Given the description of an element on the screen output the (x, y) to click on. 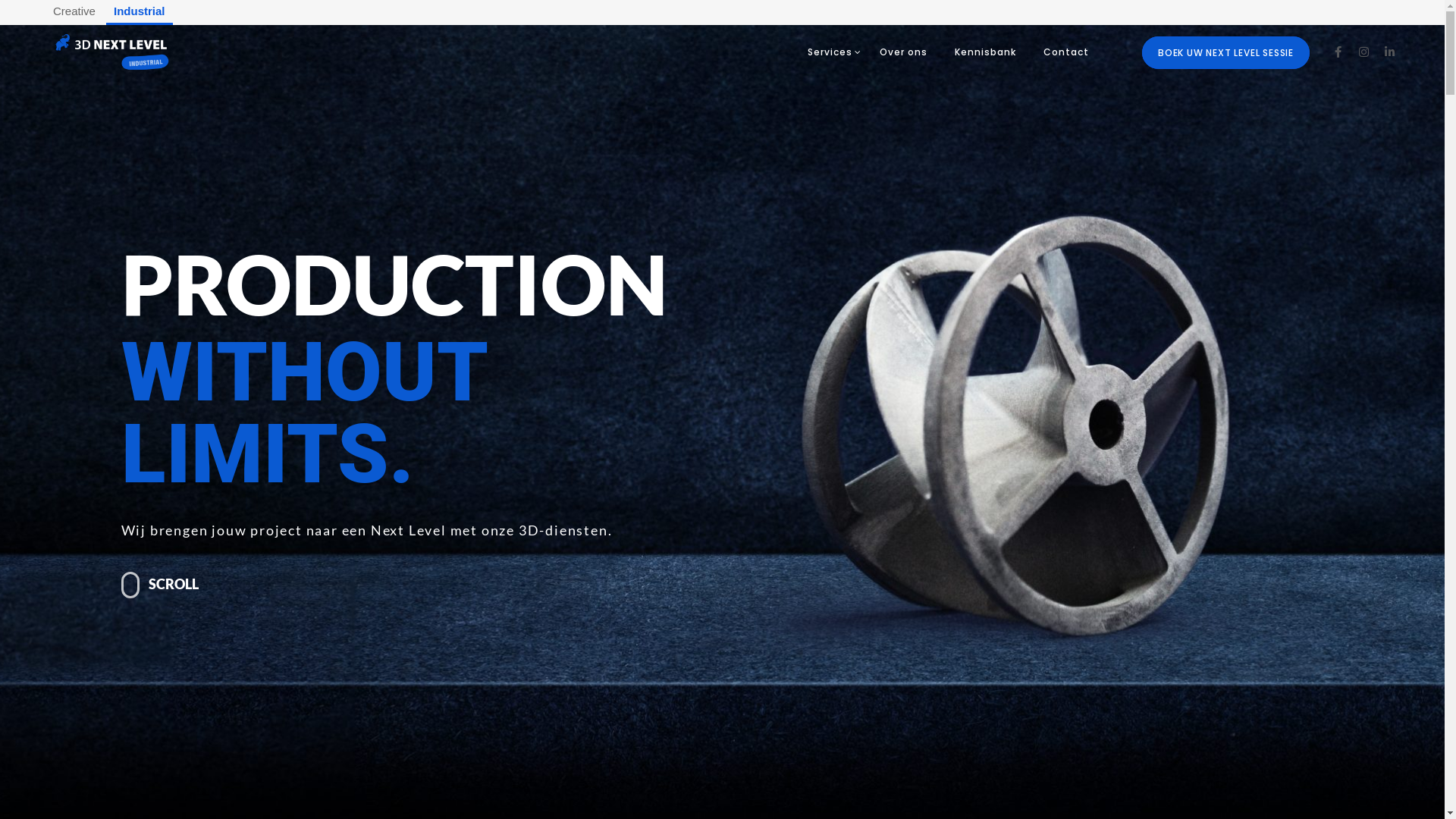
Contact Element type: text (1065, 51)
Kennisbank Element type: text (985, 51)
Creative Element type: text (74, 11)
BOEK UW NEXT LEVEL SESSIE Element type: text (1225, 52)
Over ons Element type: text (903, 51)
Industrial Element type: text (139, 12)
Services Element type: text (829, 51)
